Given the description of an element on the screen output the (x, y) to click on. 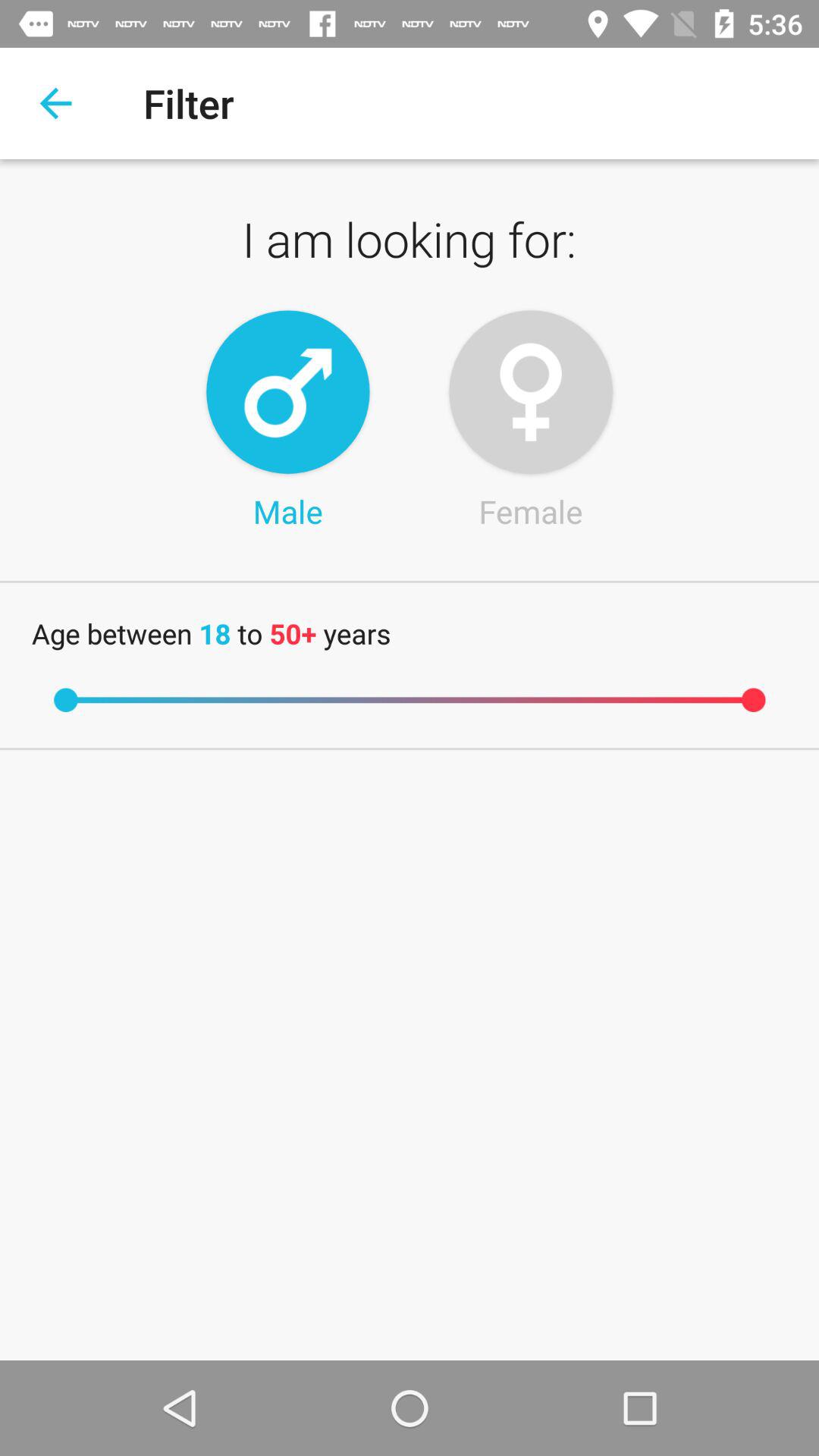
go back (55, 103)
